Given the description of an element on the screen output the (x, y) to click on. 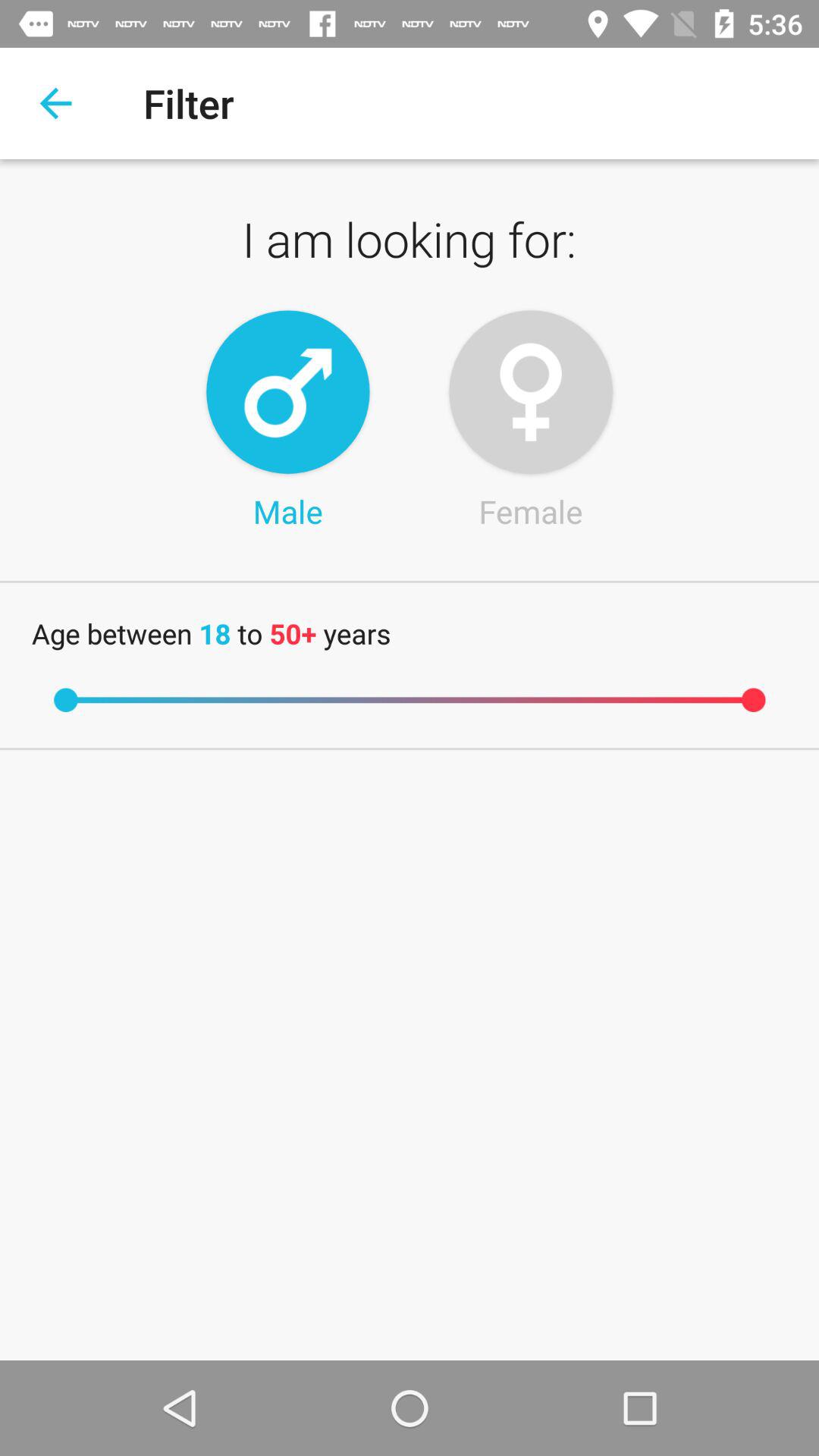
go back (55, 103)
